Given the description of an element on the screen output the (x, y) to click on. 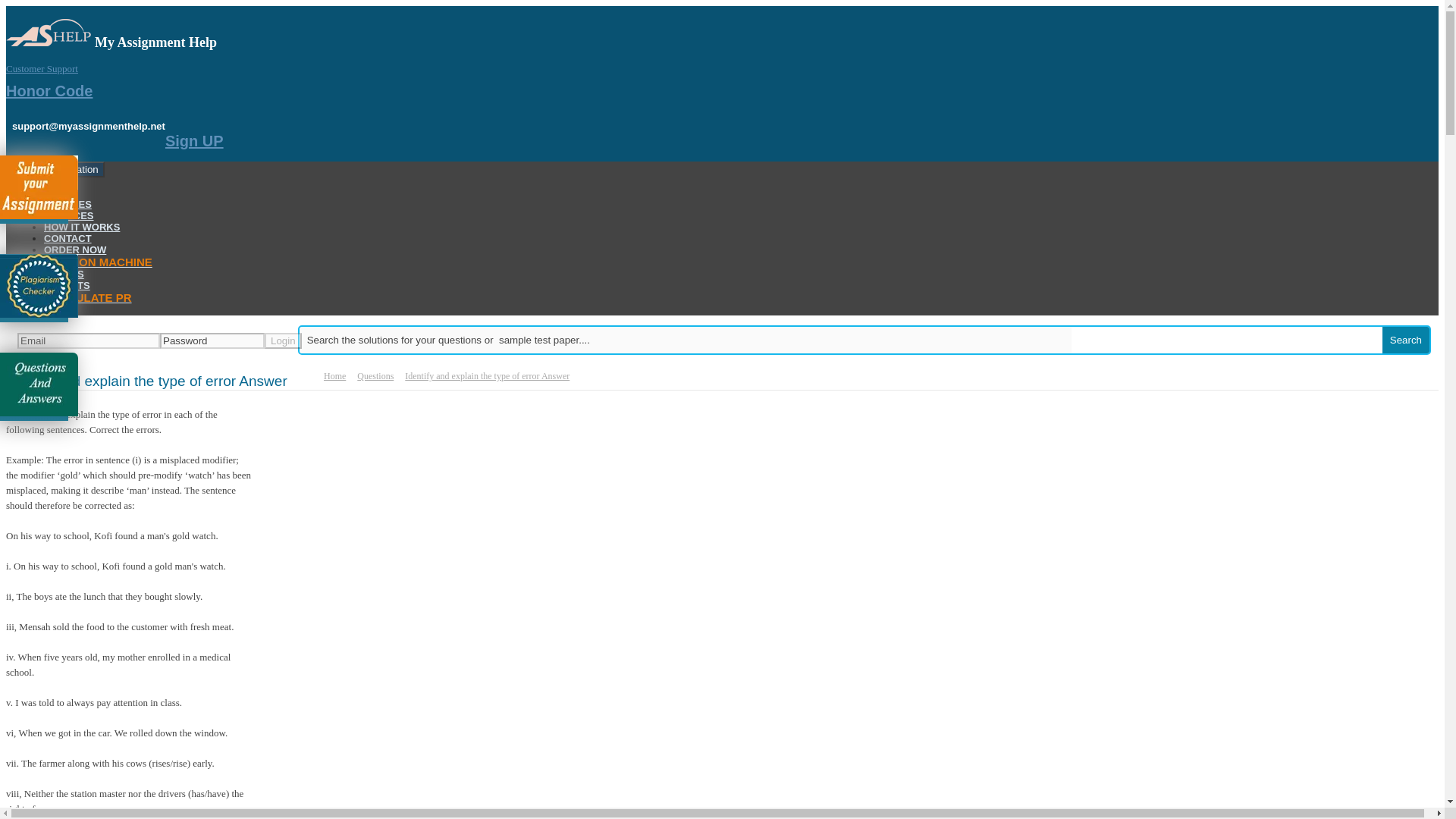
Login (282, 340)
Questions (375, 376)
questions (375, 376)
Login (282, 340)
CITATION MACHINE (97, 262)
Contacts (67, 238)
Offers by Myassignmenthelp (63, 274)
Identify and explain the type of error  Answer (487, 376)
ORDER NOW (74, 249)
PR	Point Calculator (87, 297)
Citation Machine (97, 262)
SAMPLES (67, 204)
BLOG (57, 309)
Questions And Answers (39, 384)
My Assignment Help (49, 31)
